Given the description of an element on the screen output the (x, y) to click on. 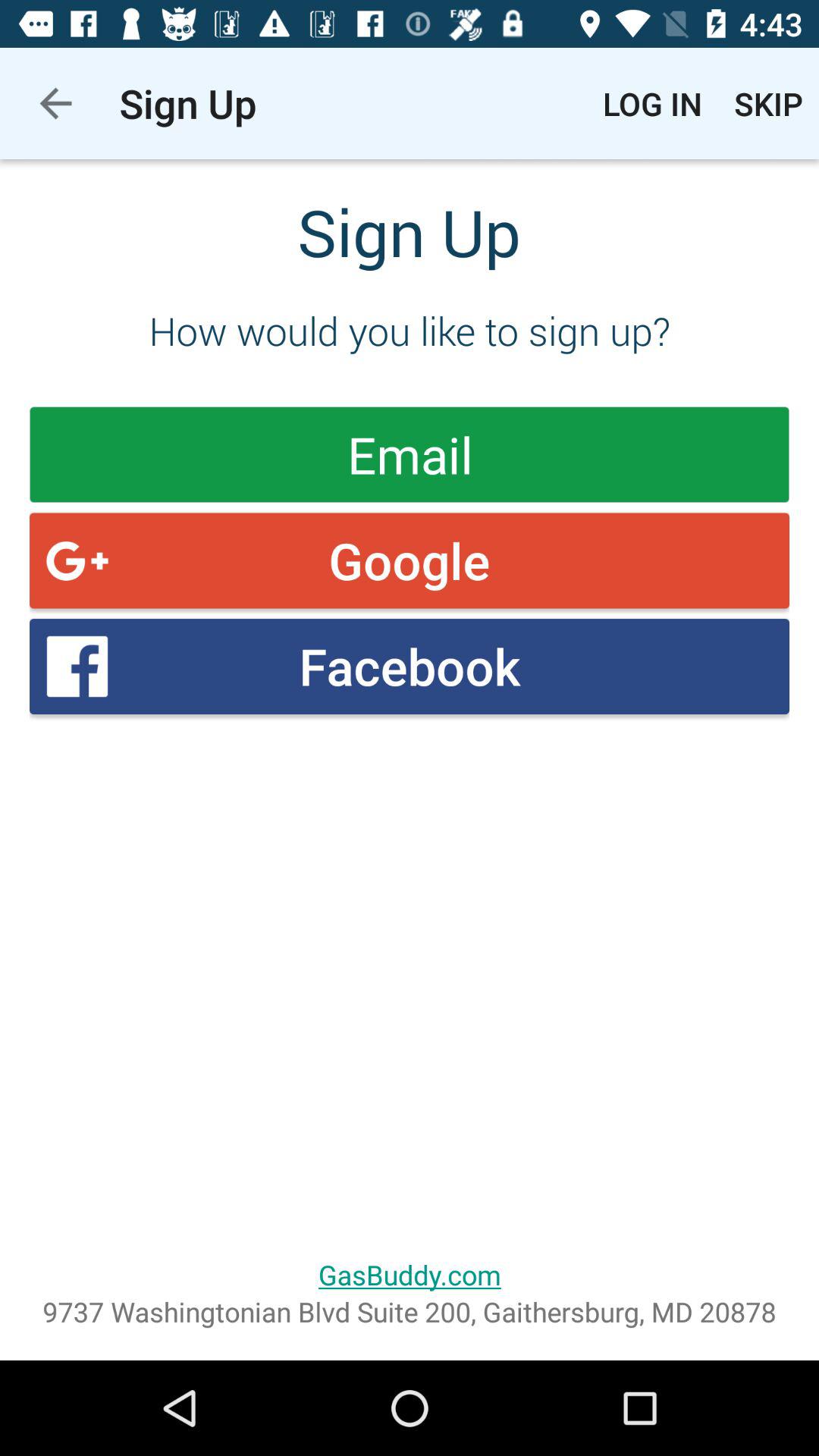
scroll to google icon (409, 560)
